Given the description of an element on the screen output the (x, y) to click on. 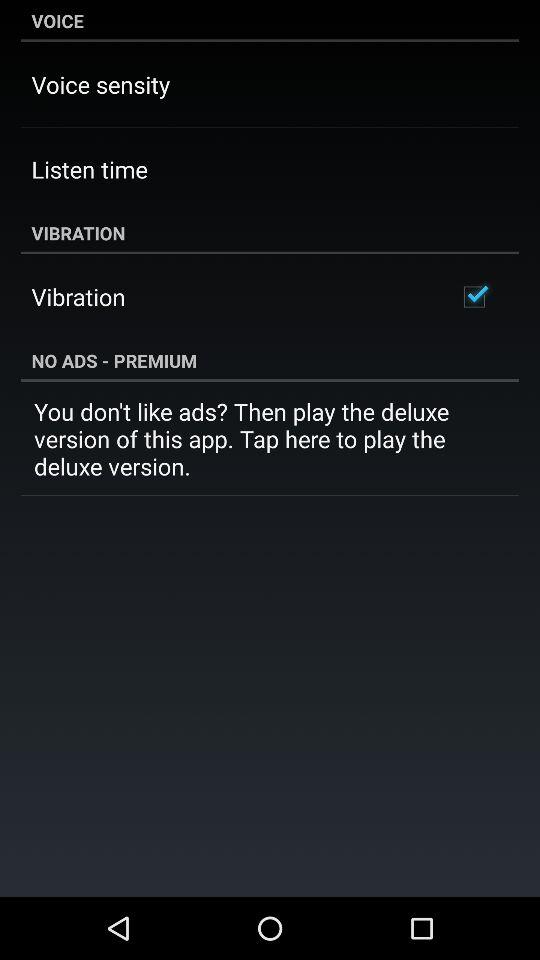
tap icon below no ads - premium app (270, 438)
